Given the description of an element on the screen output the (x, y) to click on. 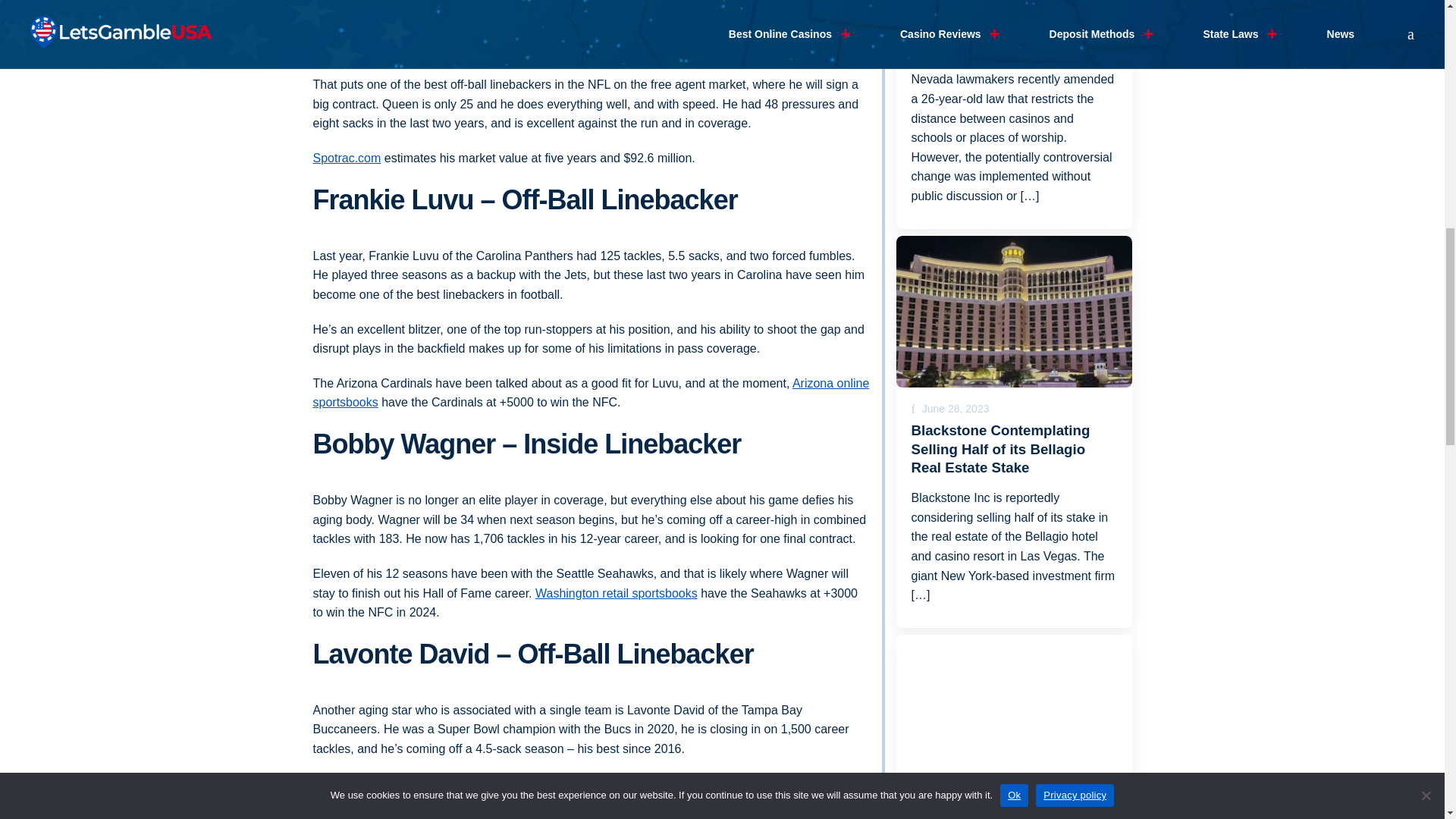
Spotrac.com (346, 157)
Arizona online sportsbooks (591, 392)
Washington retail sportsbooks (616, 593)
NFL online sportsbooks (687, 783)
